Given the description of an element on the screen output the (x, y) to click on. 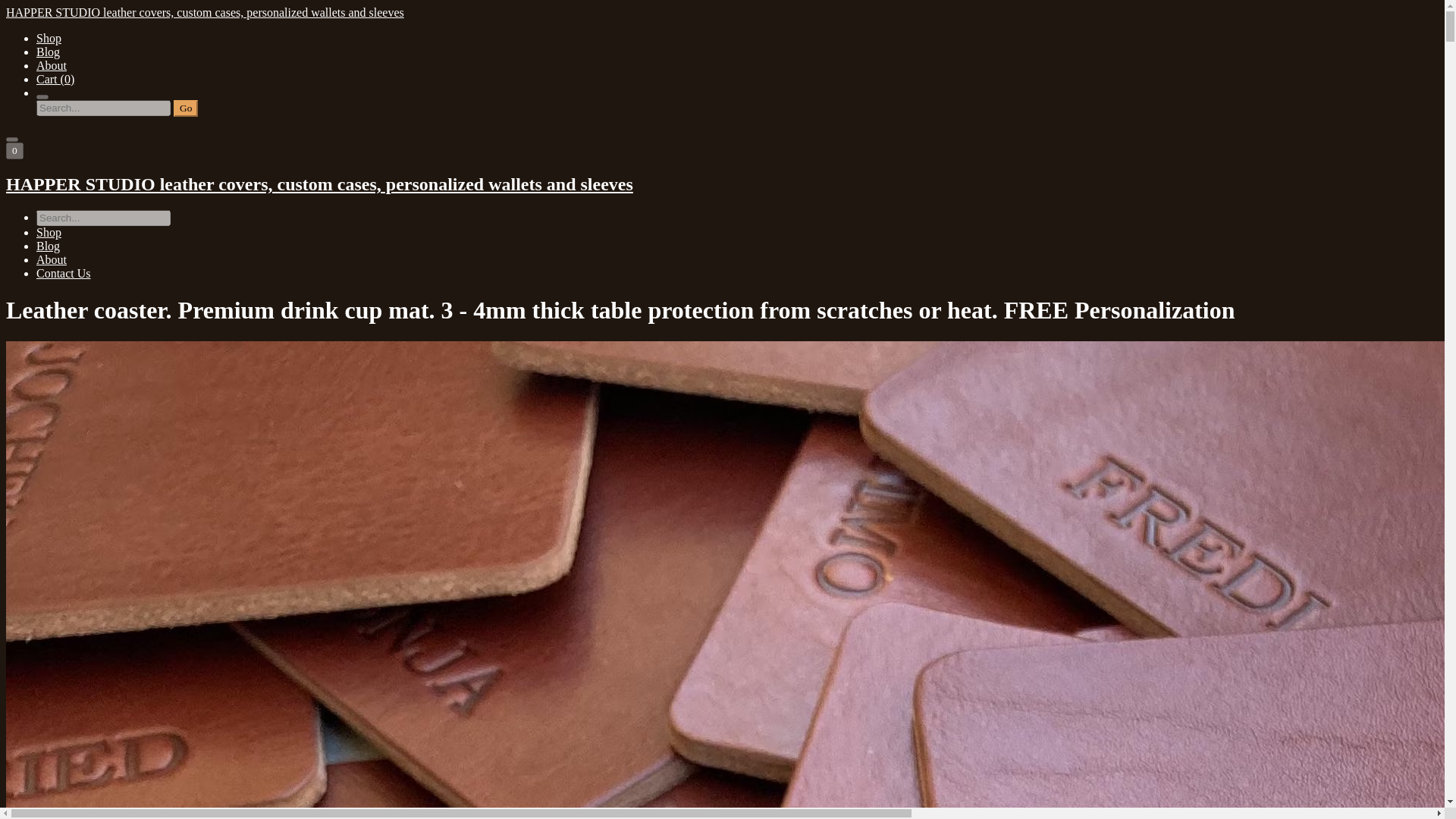
Contact Us (63, 273)
0 (14, 150)
About (51, 259)
Go (185, 108)
Shop (48, 38)
About (51, 65)
Go (185, 108)
Shop (48, 232)
